Given the description of an element on the screen output the (x, y) to click on. 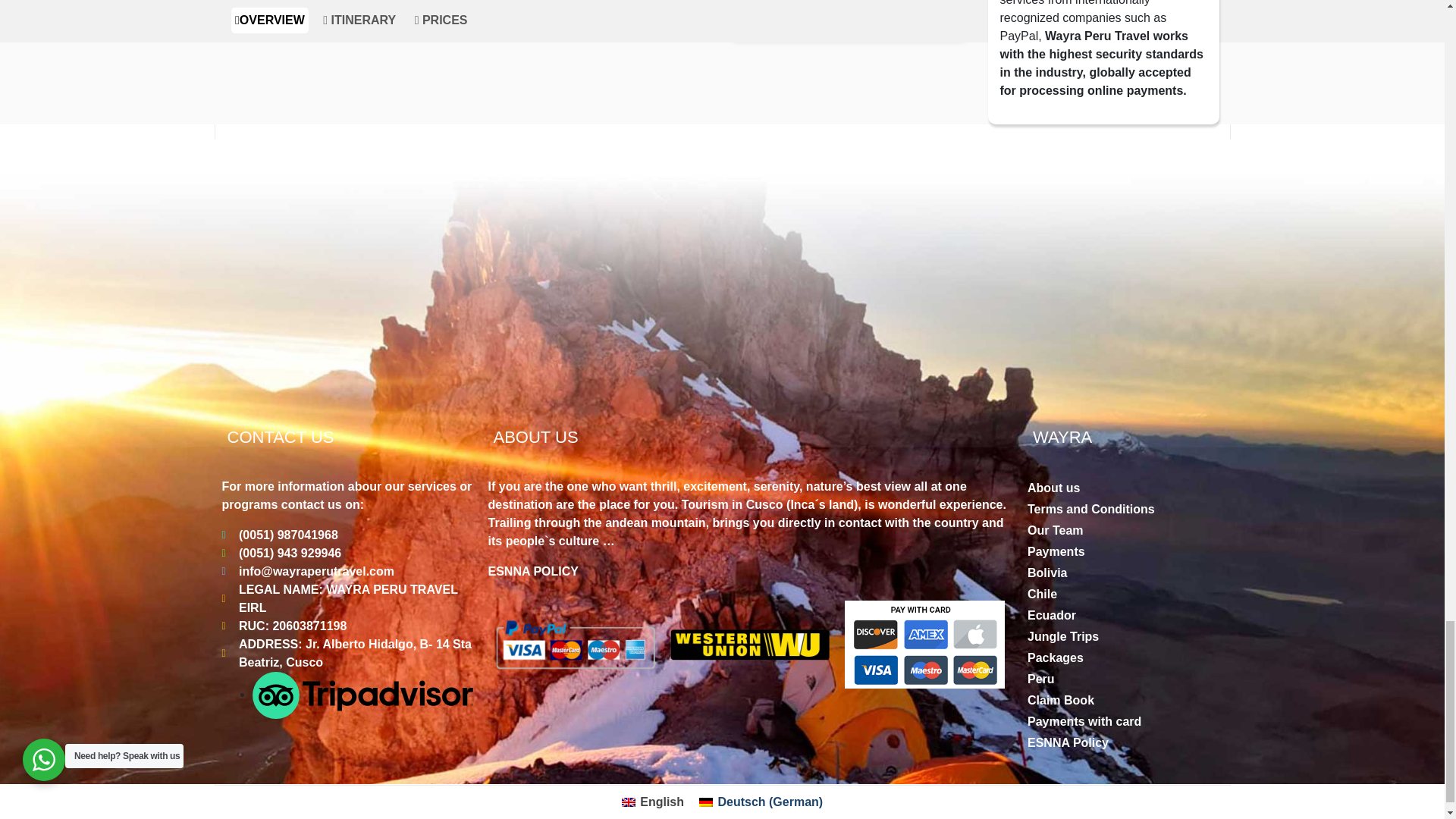
Read more: Santa Cruz Trek 4 Days (583, 7)
Read more: Classic Trekking Huayhuash 4 Days (836, 19)
Read more: Llanganuco Full Day (328, 7)
